Given the description of an element on the screen output the (x, y) to click on. 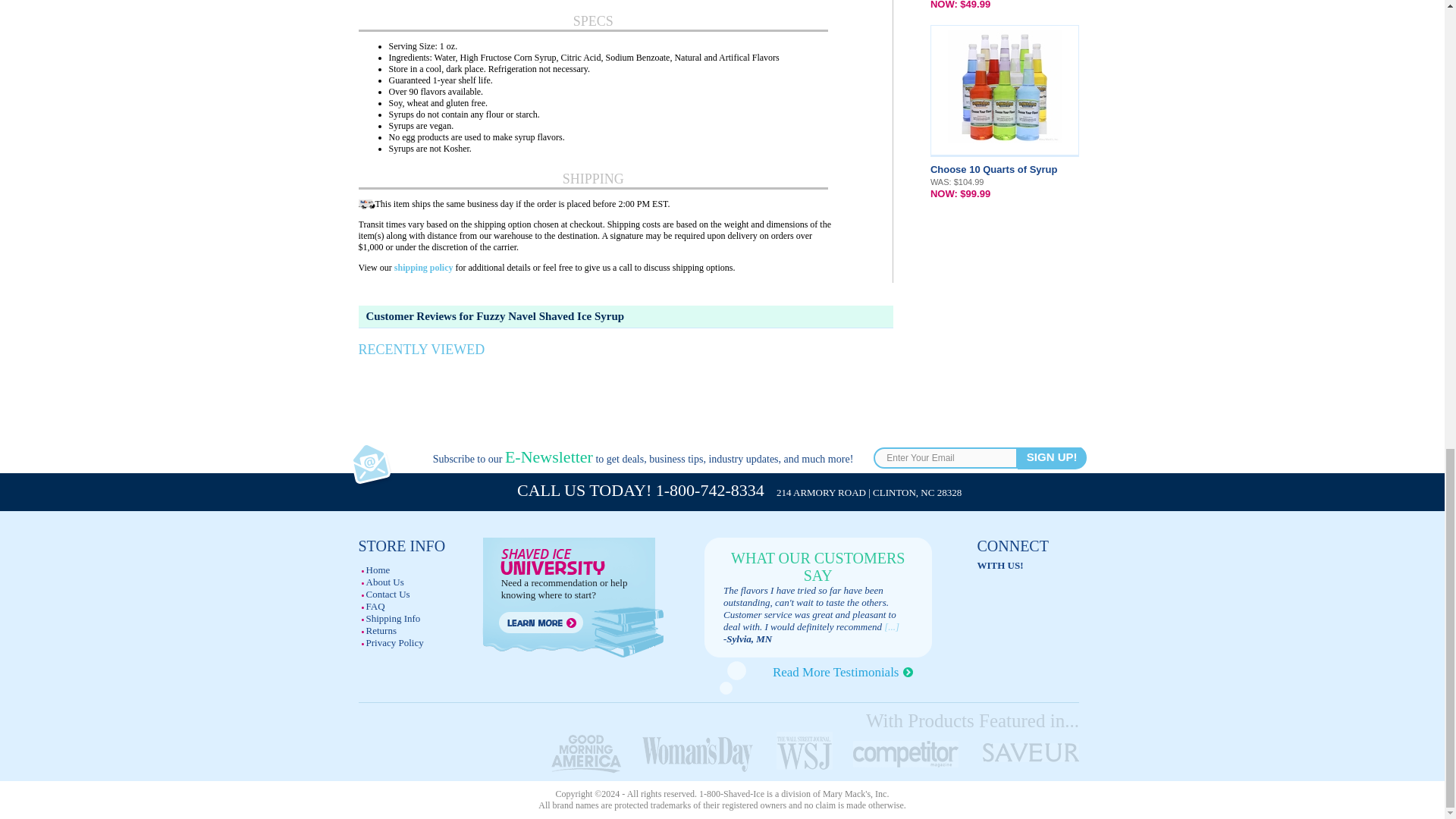
Products Featured in (812, 752)
Enter Your Email (945, 457)
Enter Your Email (945, 457)
